Given the description of an element on the screen output the (x, y) to click on. 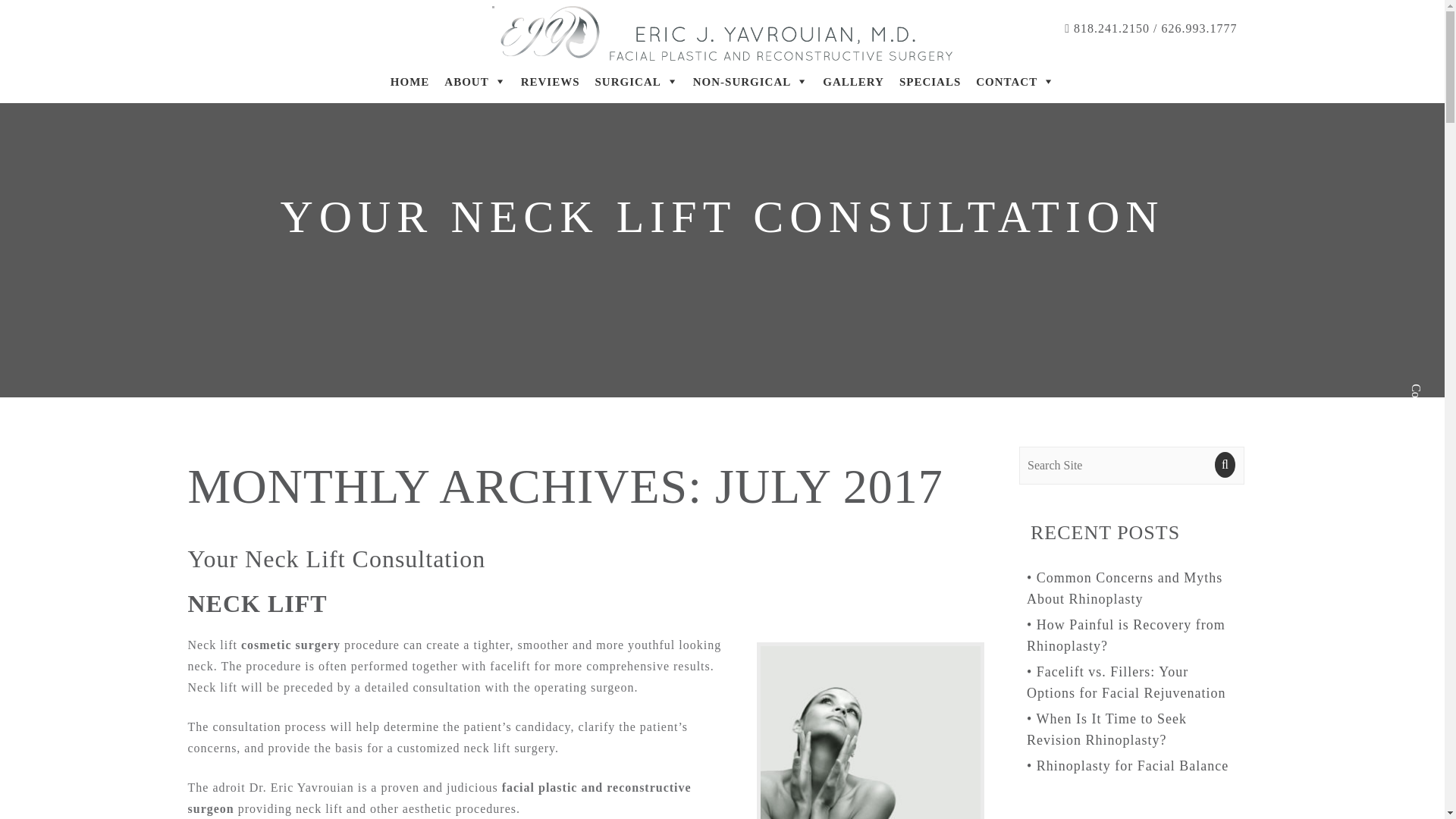
GALLERY (853, 81)
626.993.1777 (1199, 28)
818.241.2150 (1110, 28)
SPECIALS (929, 81)
CONTACT (1014, 81)
REVIEWS (550, 81)
SURGICAL (636, 81)
HOME (410, 81)
NON-SURGICAL (750, 81)
ABOUT (474, 81)
